Given the description of an element on the screen output the (x, y) to click on. 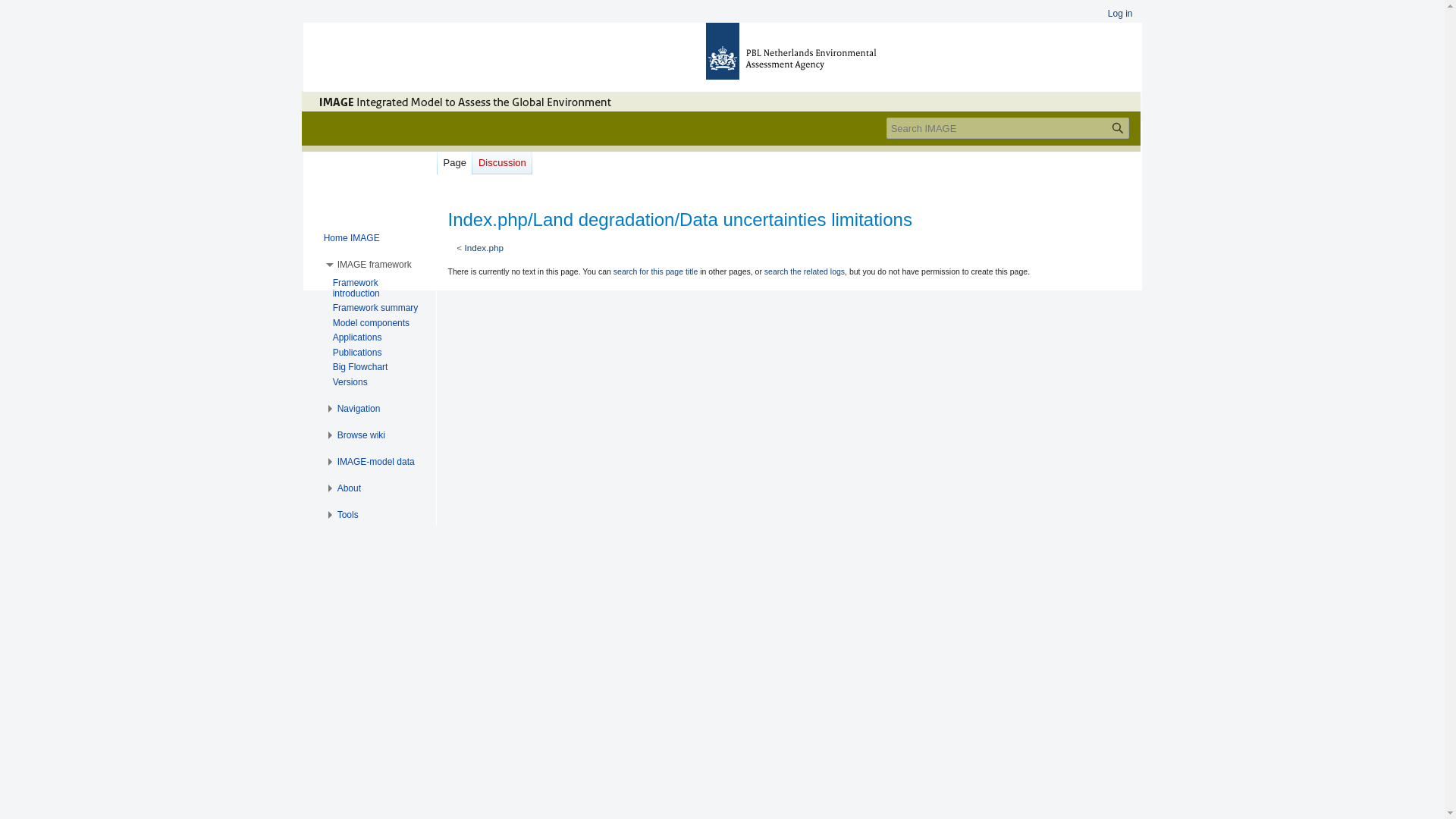
Index.php (483, 247)
Search (1117, 127)
Search the pages for this text (1117, 127)
Framework introduction (356, 287)
Framework summary (376, 307)
Search (1117, 127)
Go (1117, 127)
About (349, 488)
Log in (1120, 13)
Navigation (358, 408)
IMAGE framework (374, 264)
Model components (371, 322)
Discussion (501, 159)
Go (1117, 127)
